Given the description of an element on the screen output the (x, y) to click on. 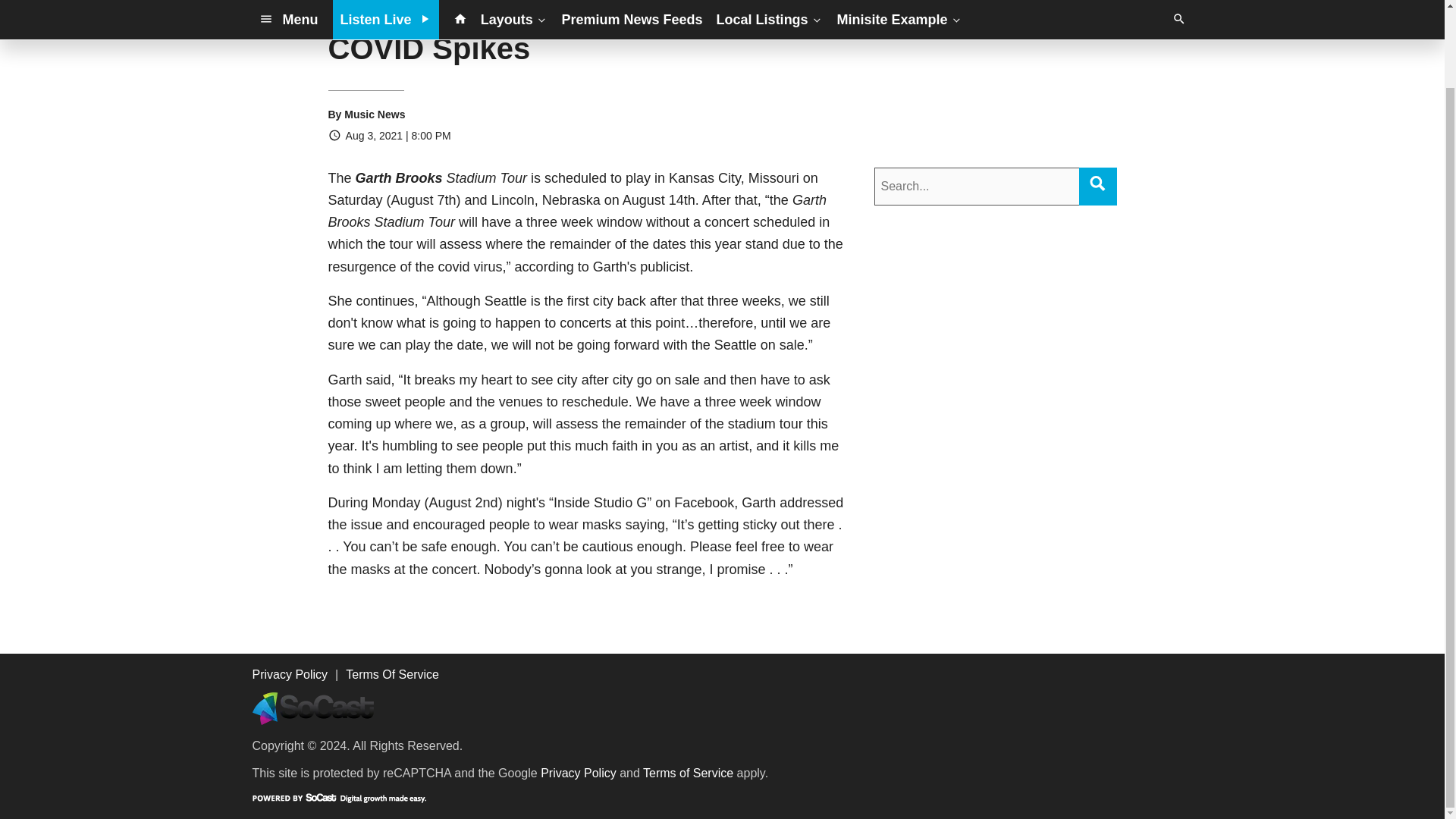
Search (1097, 182)
